Given the description of an element on the screen output the (x, y) to click on. 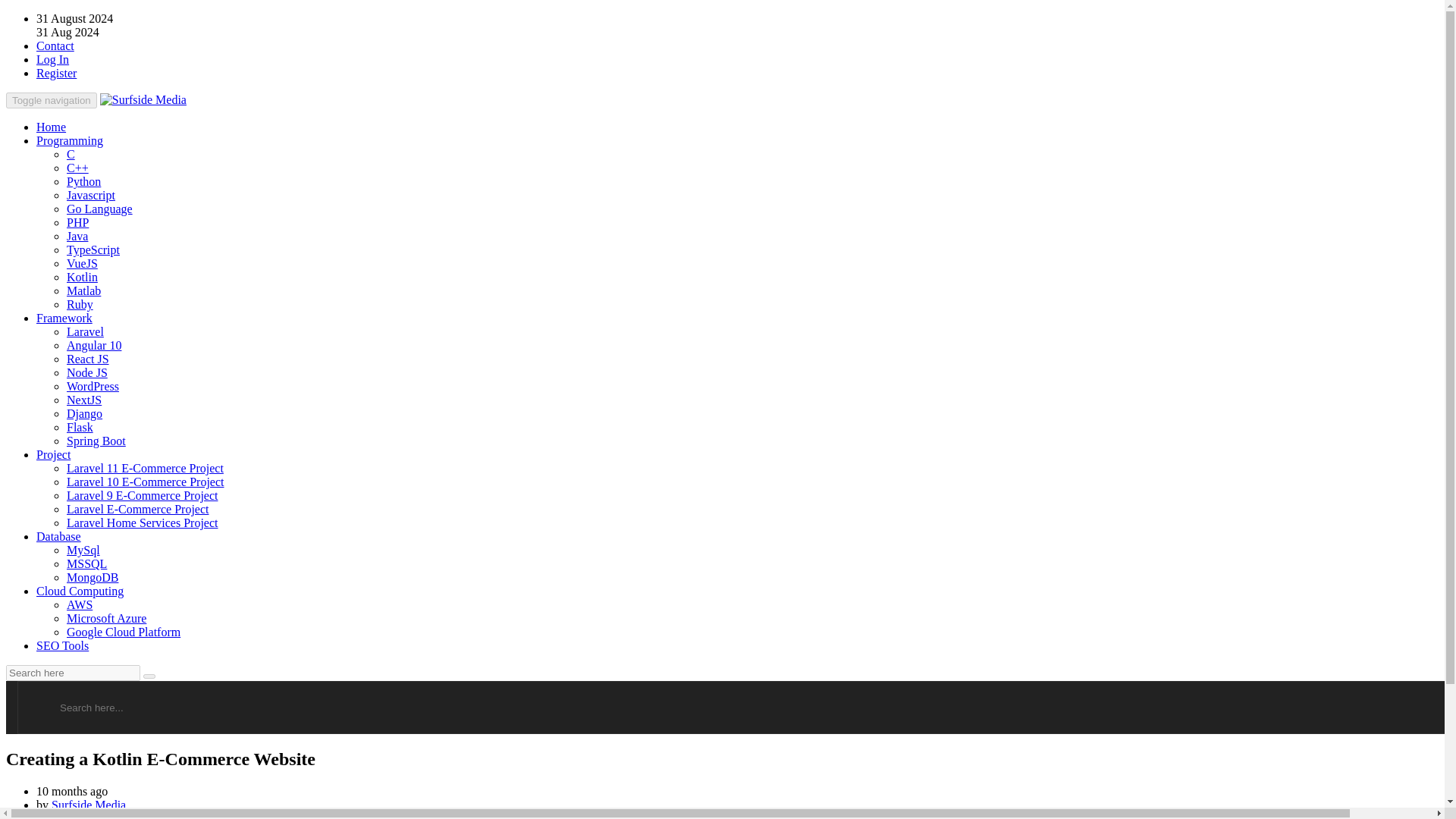
Database (58, 535)
Angular 10 (93, 345)
Django (83, 413)
NextJS (83, 399)
Laravel 11 E-Commerce Project (145, 468)
Node JS (86, 372)
Framework (64, 318)
Ruby (79, 304)
Javascript (90, 195)
Python (83, 181)
